Given the description of an element on the screen output the (x, y) to click on. 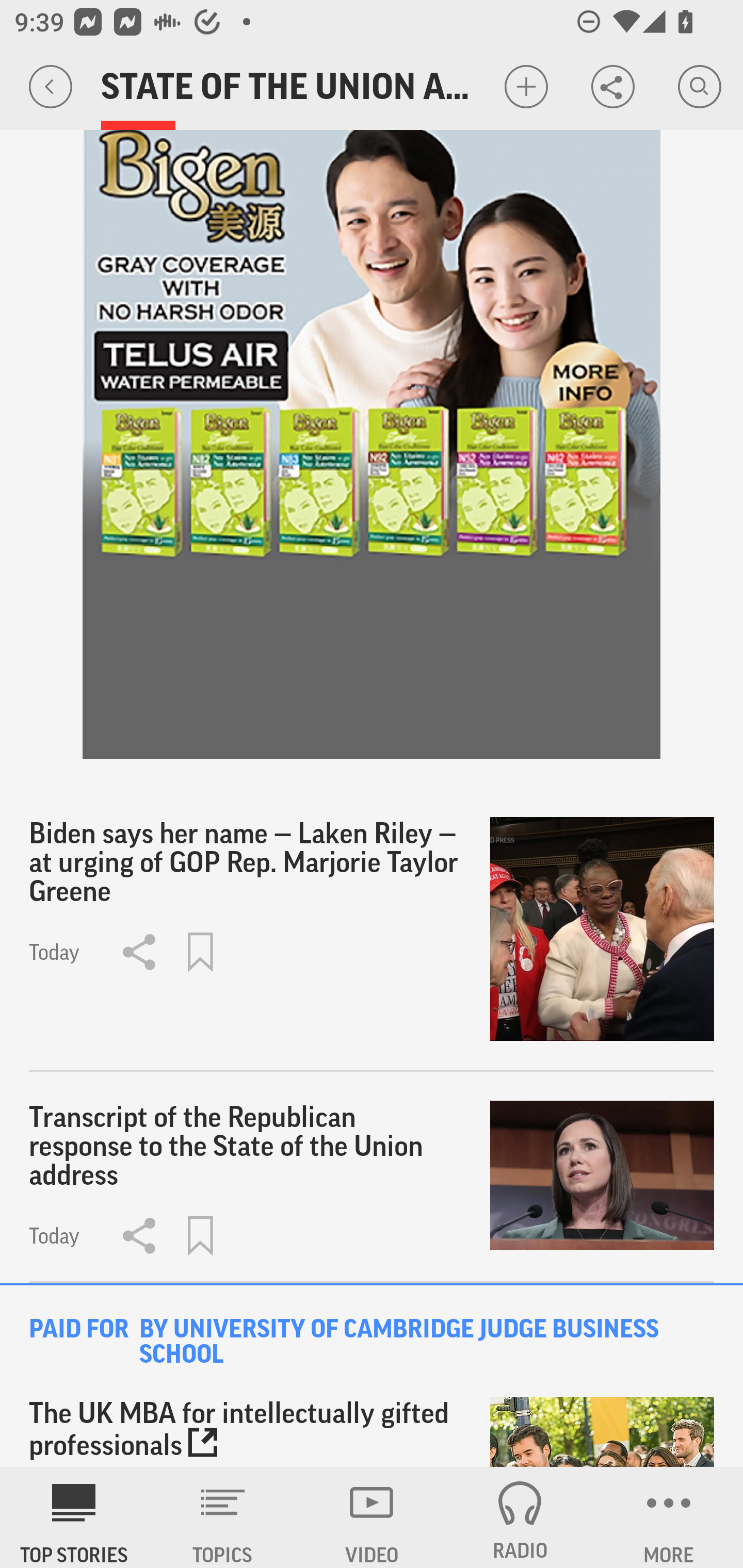
8 (371, 380)
AP News TOP STORIES (74, 1517)
TOPICS (222, 1517)
VIDEO (371, 1517)
RADIO (519, 1517)
MORE (668, 1517)
